Given the description of an element on the screen output the (x, y) to click on. 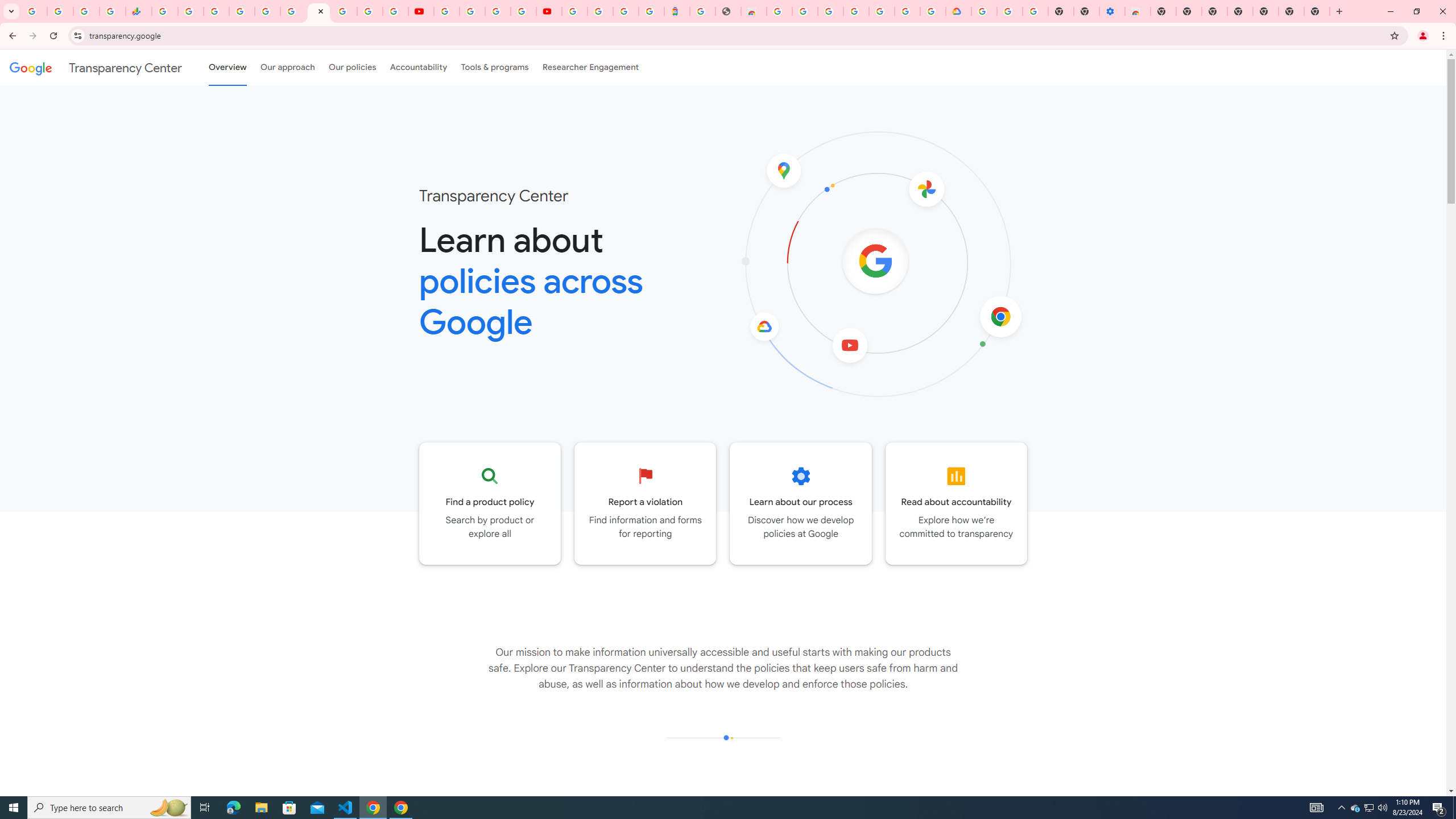
Accountability (418, 67)
Privacy Checkup (395, 11)
Sign in - Google Accounts (242, 11)
New Tab (1162, 11)
Our approach (287, 67)
Atour Hotel - Google hotels (676, 11)
